Given the description of an element on the screen output the (x, y) to click on. 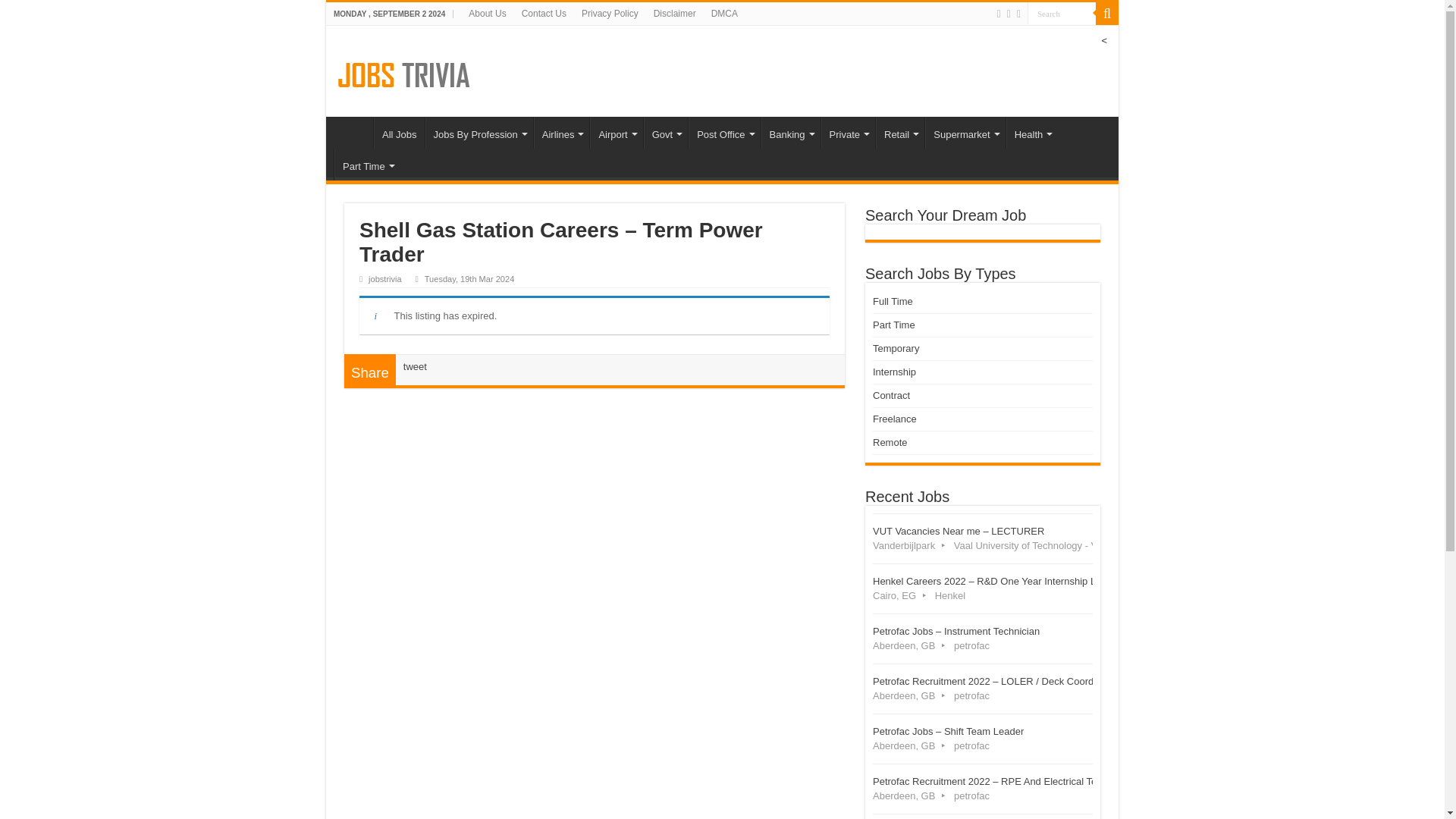
Contact Us (543, 13)
Search (1107, 13)
Search (1061, 13)
About Us (487, 13)
Disclaimer (674, 13)
Search (1061, 13)
Jobs By Profession (478, 132)
Privacy Policy (609, 13)
DMCA (724, 13)
Search (1061, 13)
